Given the description of an element on the screen output the (x, y) to click on. 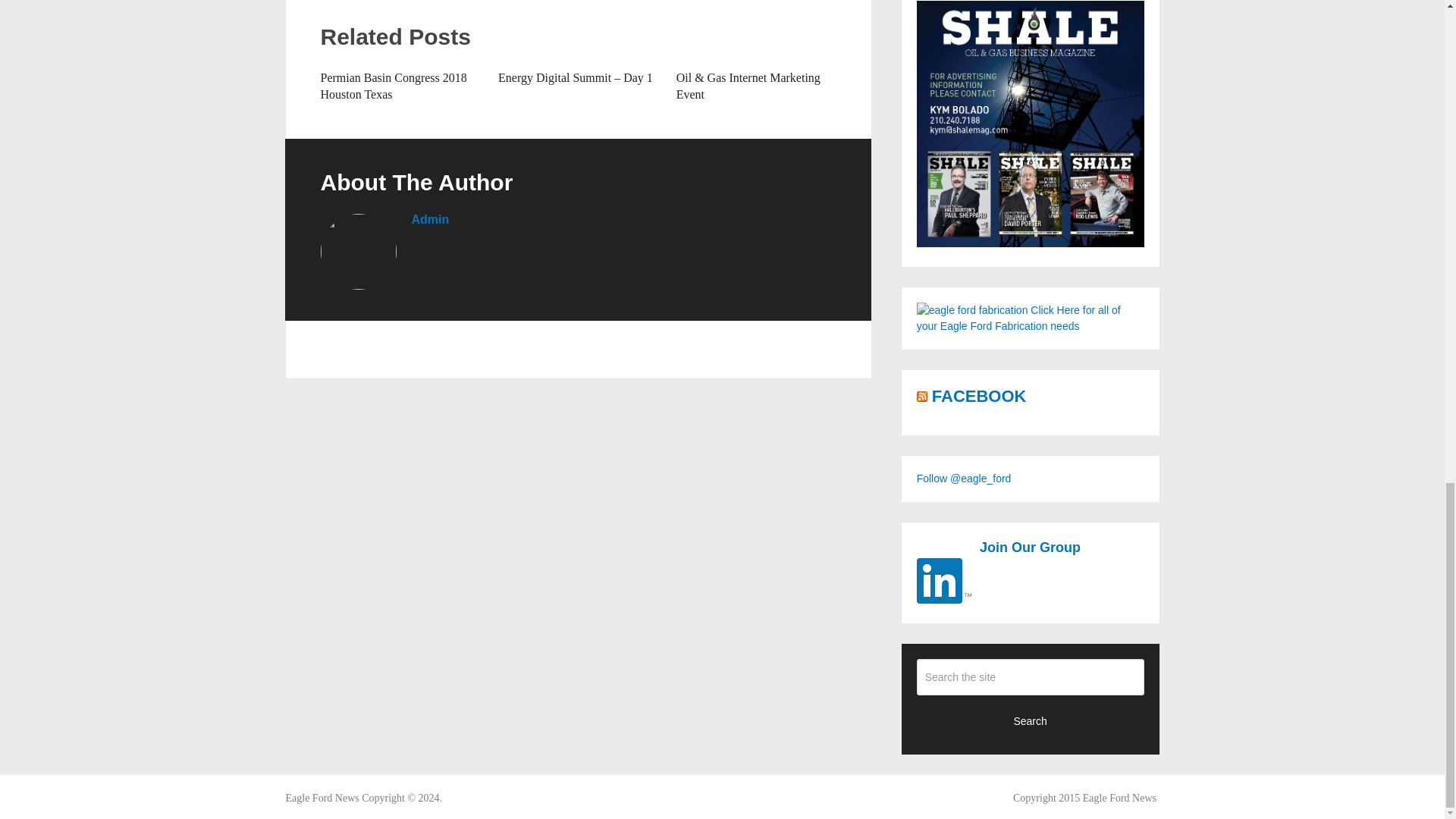
Permian Basin Congress 2018 Houston Texas (392, 85)
Admin (429, 219)
Permian Basin Congress 2018 Houston Texas (392, 85)
